Given the description of an element on the screen output the (x, y) to click on. 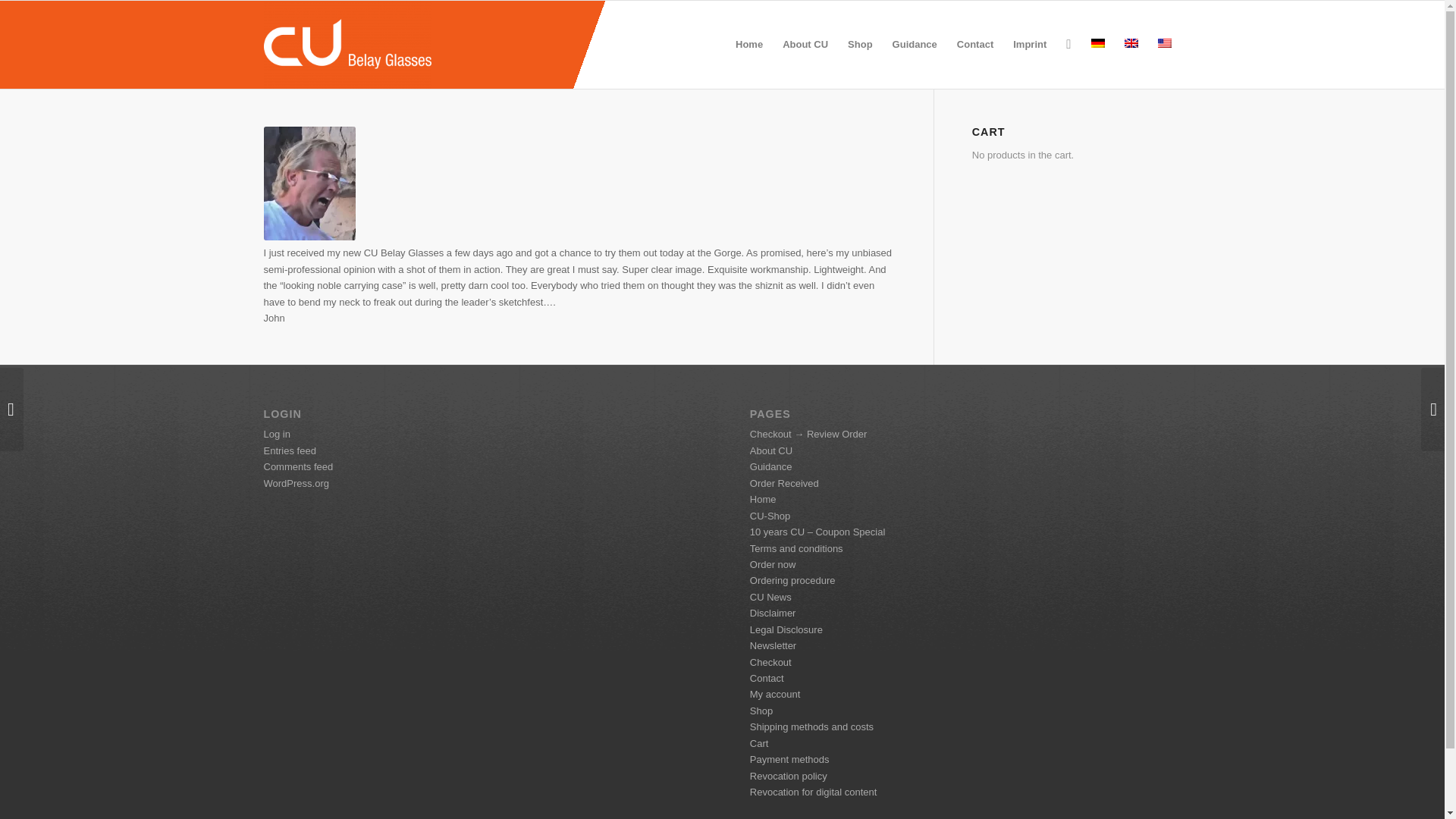
Entries feed (289, 450)
Guidance (770, 466)
CU News (770, 596)
Order Received (783, 482)
English (1130, 42)
Ordering procedure (792, 580)
Home (762, 499)
Terms and conditions (796, 548)
About CU (770, 450)
CU-Shop (769, 515)
Newsletter (772, 645)
WordPress.org (296, 482)
Order now (772, 564)
Log in (276, 433)
Comments feed (298, 466)
